Given the description of an element on the screen output the (x, y) to click on. 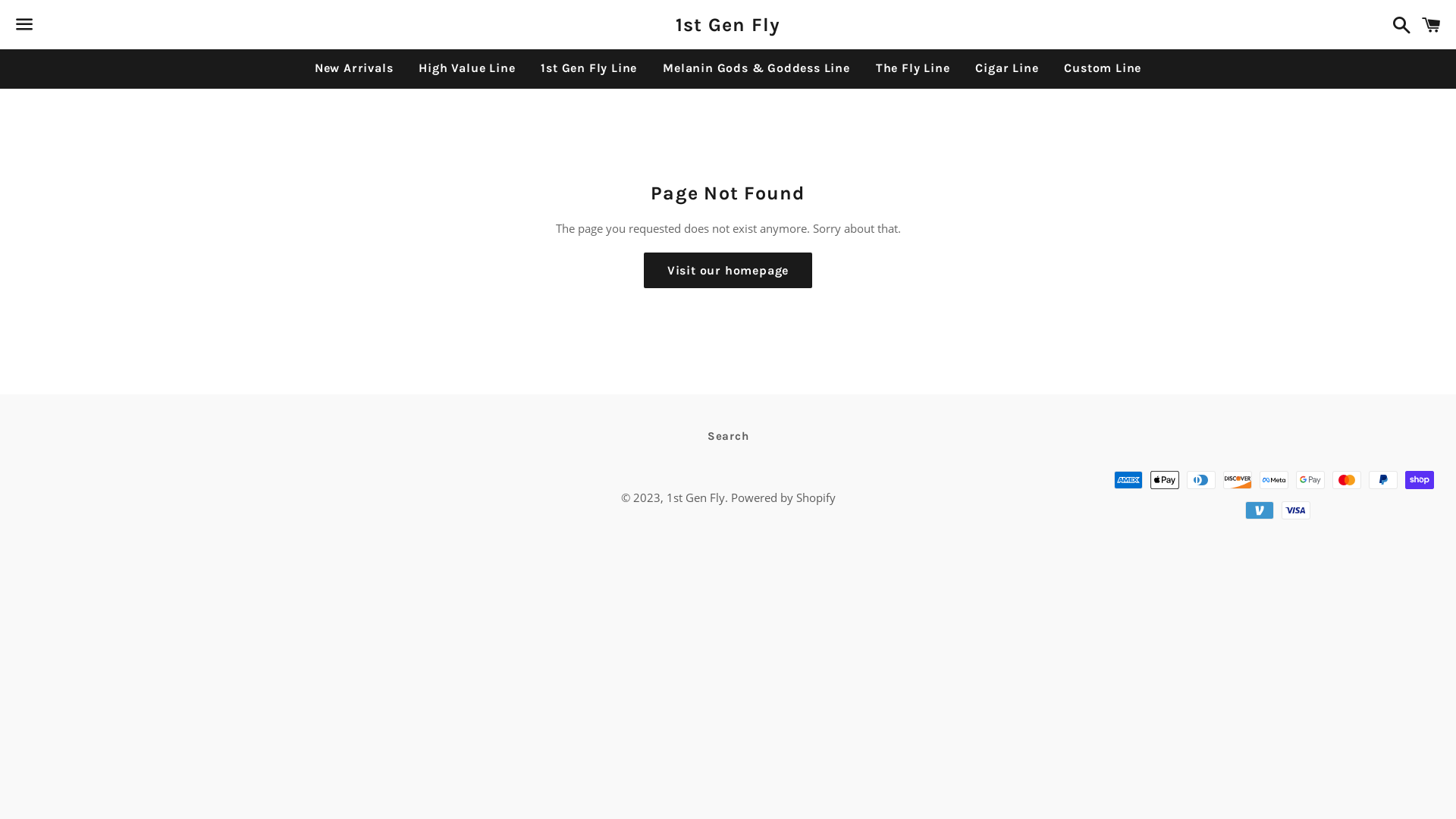
Powered by Shopify Element type: text (783, 497)
Search Element type: text (1397, 24)
1st Gen Fly Element type: text (694, 497)
Cart Element type: text (1431, 24)
1st Gen Fly Line Element type: text (588, 68)
1st Gen Fly Element type: text (727, 24)
The Fly Line Element type: text (912, 68)
Search Element type: text (728, 436)
High Value Line Element type: text (466, 68)
Menu Element type: text (24, 24)
Custom Line Element type: text (1102, 68)
New Arrivals Element type: text (353, 68)
Visit our homepage Element type: text (727, 270)
Melanin Gods & Goddess Line Element type: text (756, 68)
Cigar Line Element type: text (1006, 68)
